Given the description of an element on the screen output the (x, y) to click on. 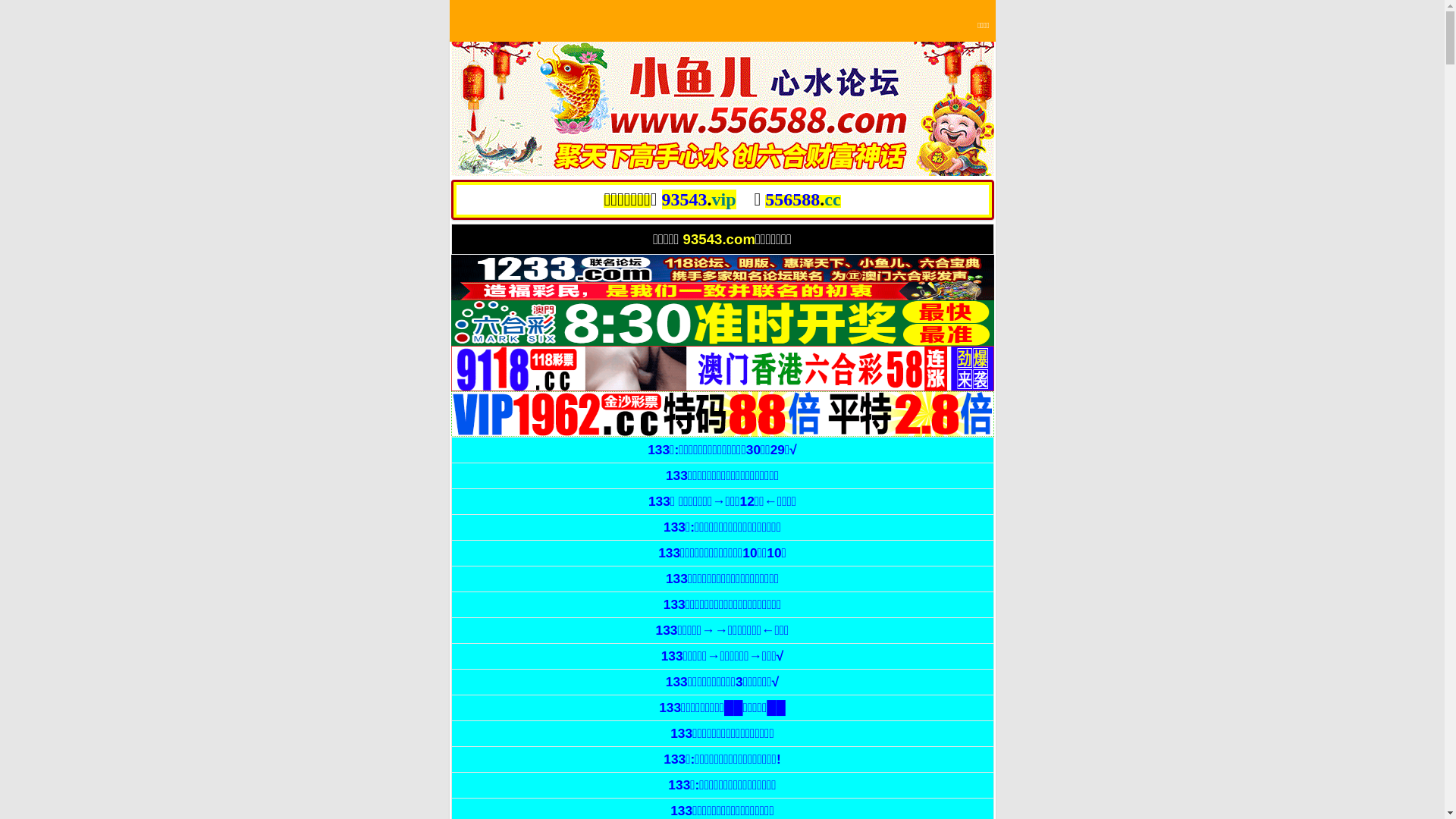
0 Element type: hover (721, 107)
